Given the description of an element on the screen output the (x, y) to click on. 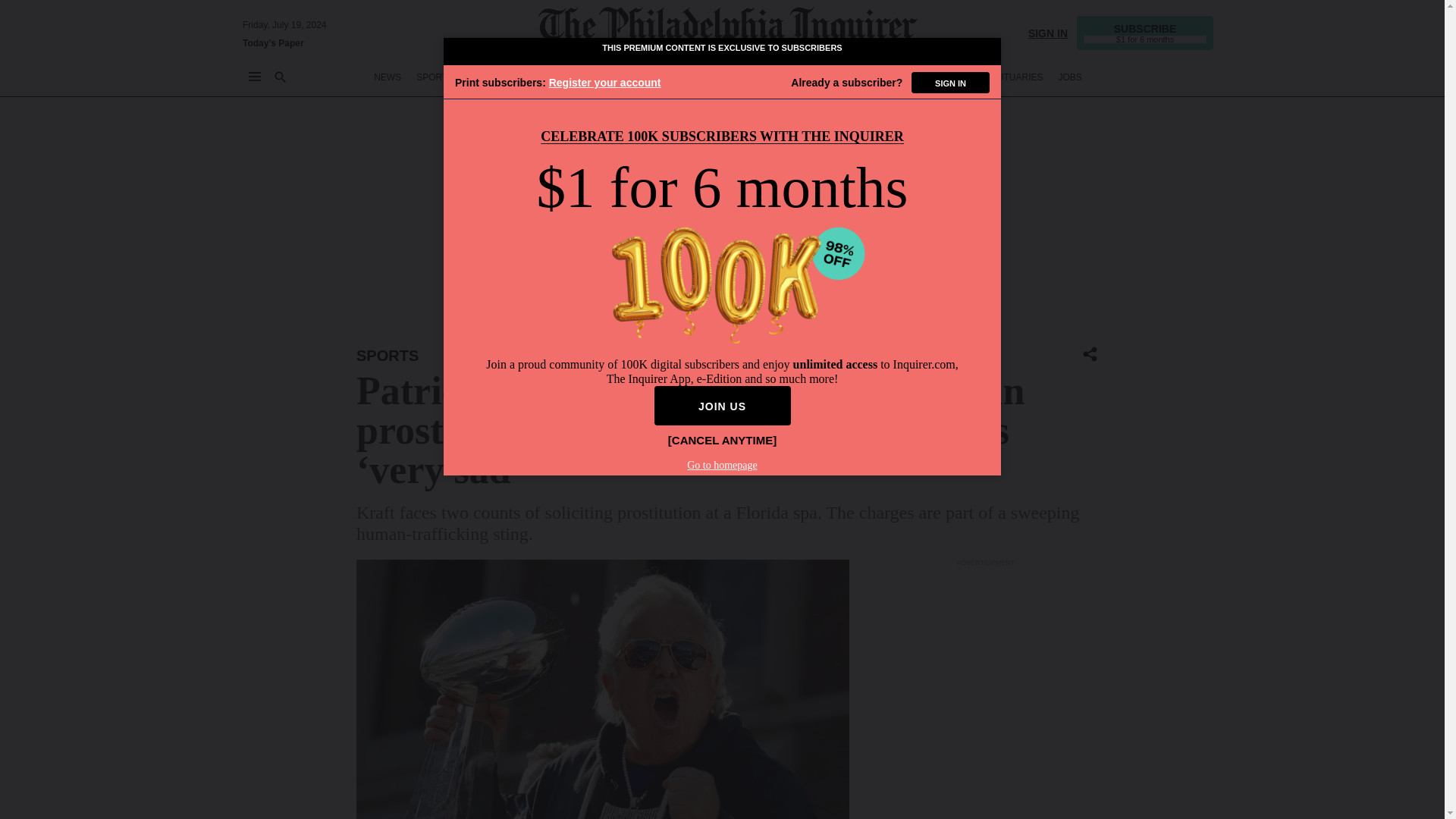
3rd party ad content (985, 694)
Share Icon (1090, 353)
BETTING (488, 77)
POLITICS (659, 77)
BUSINESS (545, 77)
NEWS (387, 77)
SPORTS (387, 355)
Sports (387, 355)
ENTERTAINMENT (732, 77)
FOOD (834, 77)
Today's Paper (273, 42)
REAL ESTATE (942, 77)
Share Icon (1090, 354)
SPORTS (434, 77)
